Given the description of an element on the screen output the (x, y) to click on. 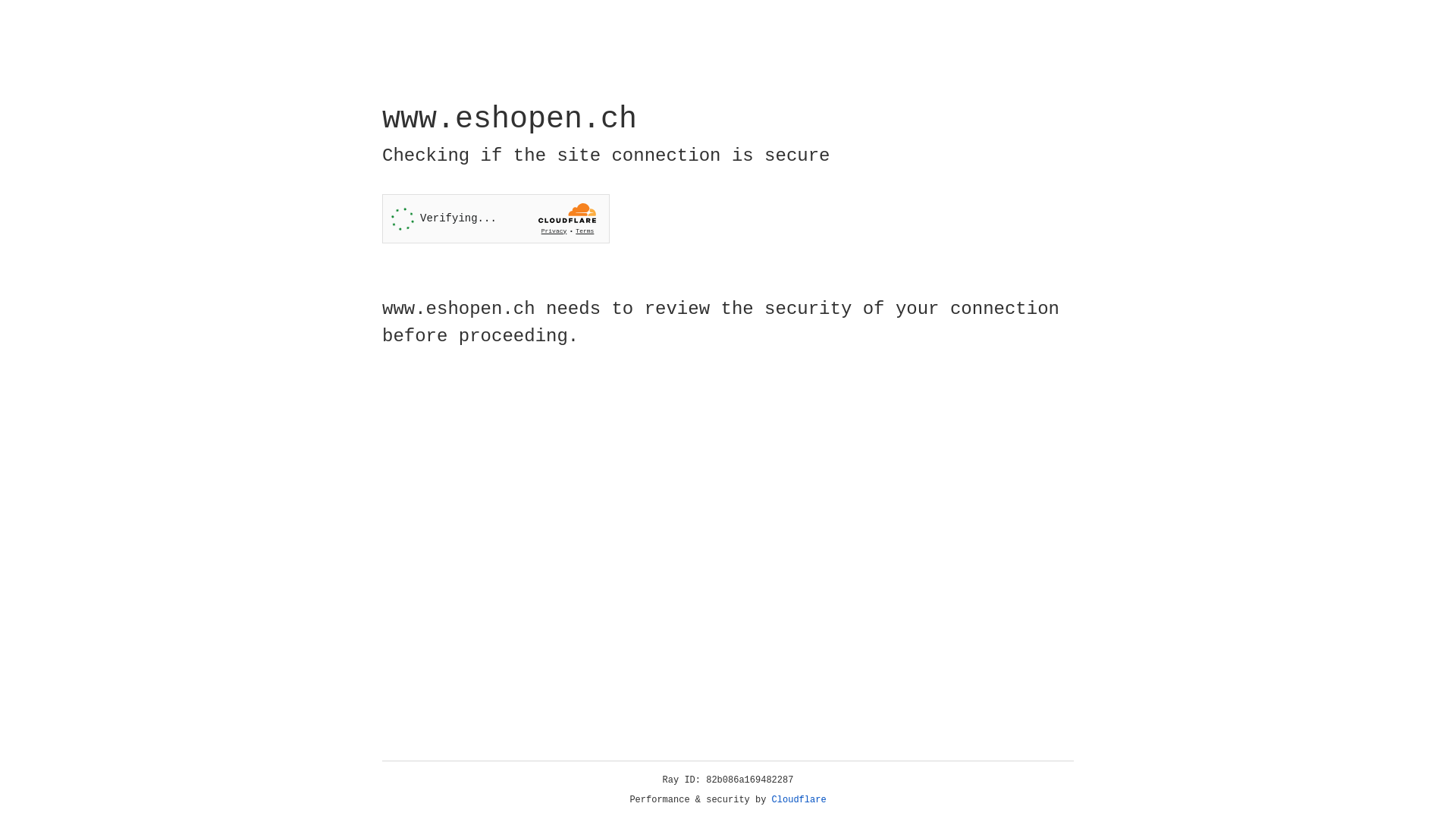
Cloudflare Element type: text (798, 799)
Widget containing a Cloudflare security challenge Element type: hover (495, 218)
